Given the description of an element on the screen output the (x, y) to click on. 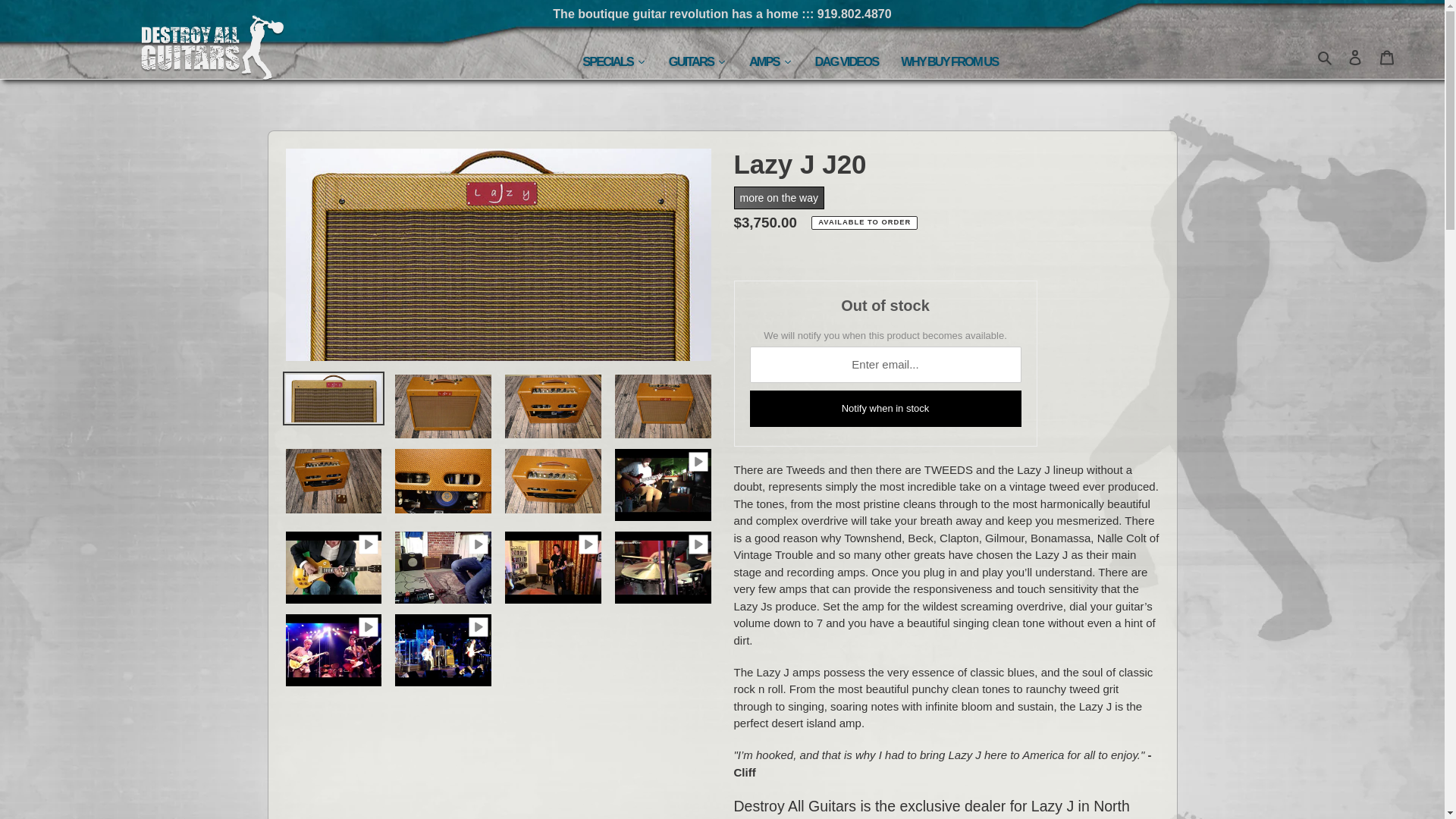
SPECIALS (614, 61)
SPECIALS (614, 61)
DAG VIDEOS (846, 61)
WHY BUY FROM US (949, 61)
AMPS (770, 61)
Search (1326, 56)
WHY BUY FROM US (949, 61)
Cart (1387, 56)
DAG VIDEOS (846, 61)
GUITARS (698, 61)
AMPS (770, 61)
GUITARS (698, 61)
Log in (1355, 56)
